Given the description of an element on the screen output the (x, y) to click on. 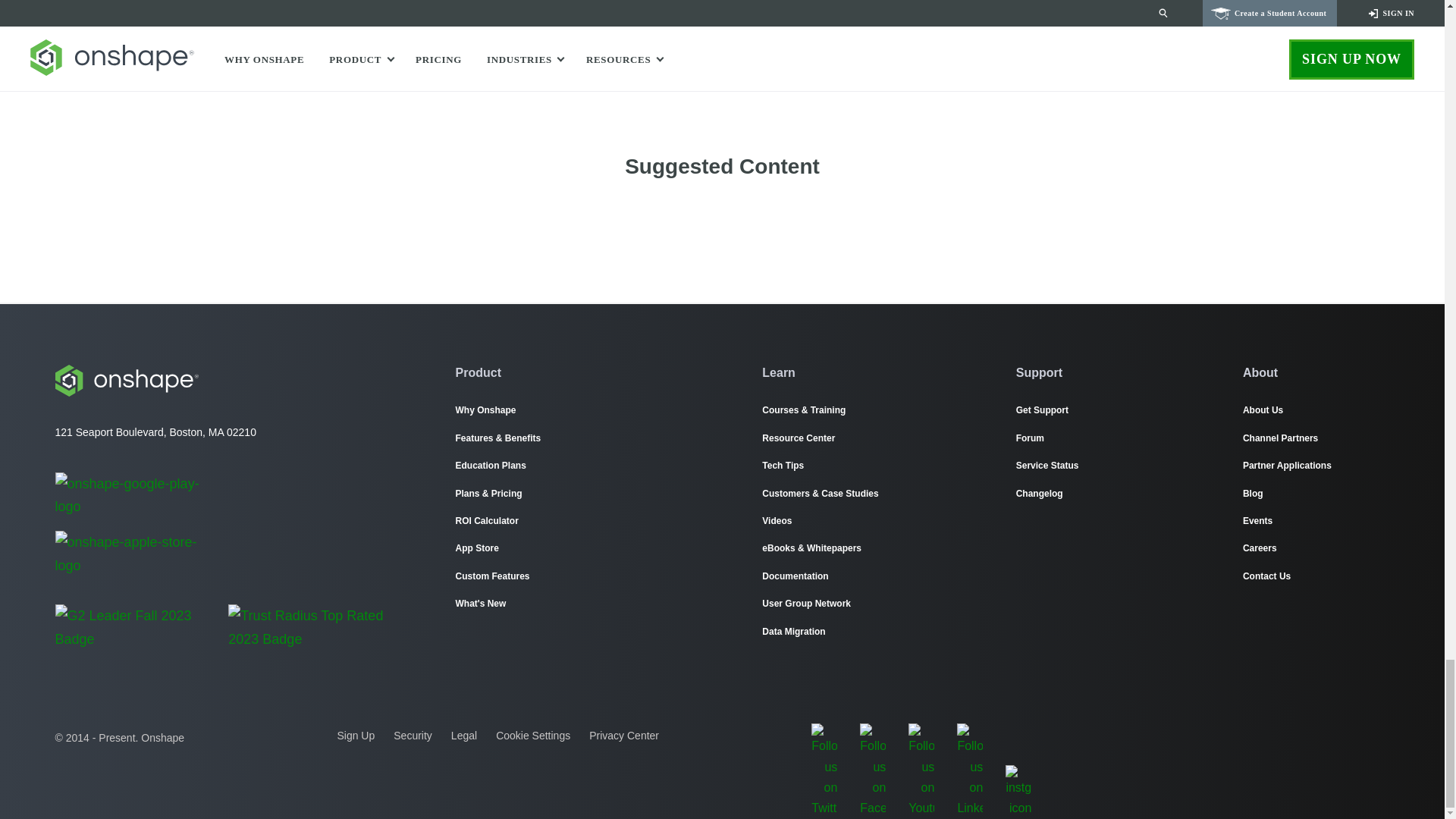
Follow us on LinkedIn (969, 736)
Follow us on Twitter (823, 736)
Follow us on Instagram (1018, 777)
Follow us on Facebook (872, 736)
Subscribe to our YouTube channel (921, 736)
